Given the description of an element on the screen output the (x, y) to click on. 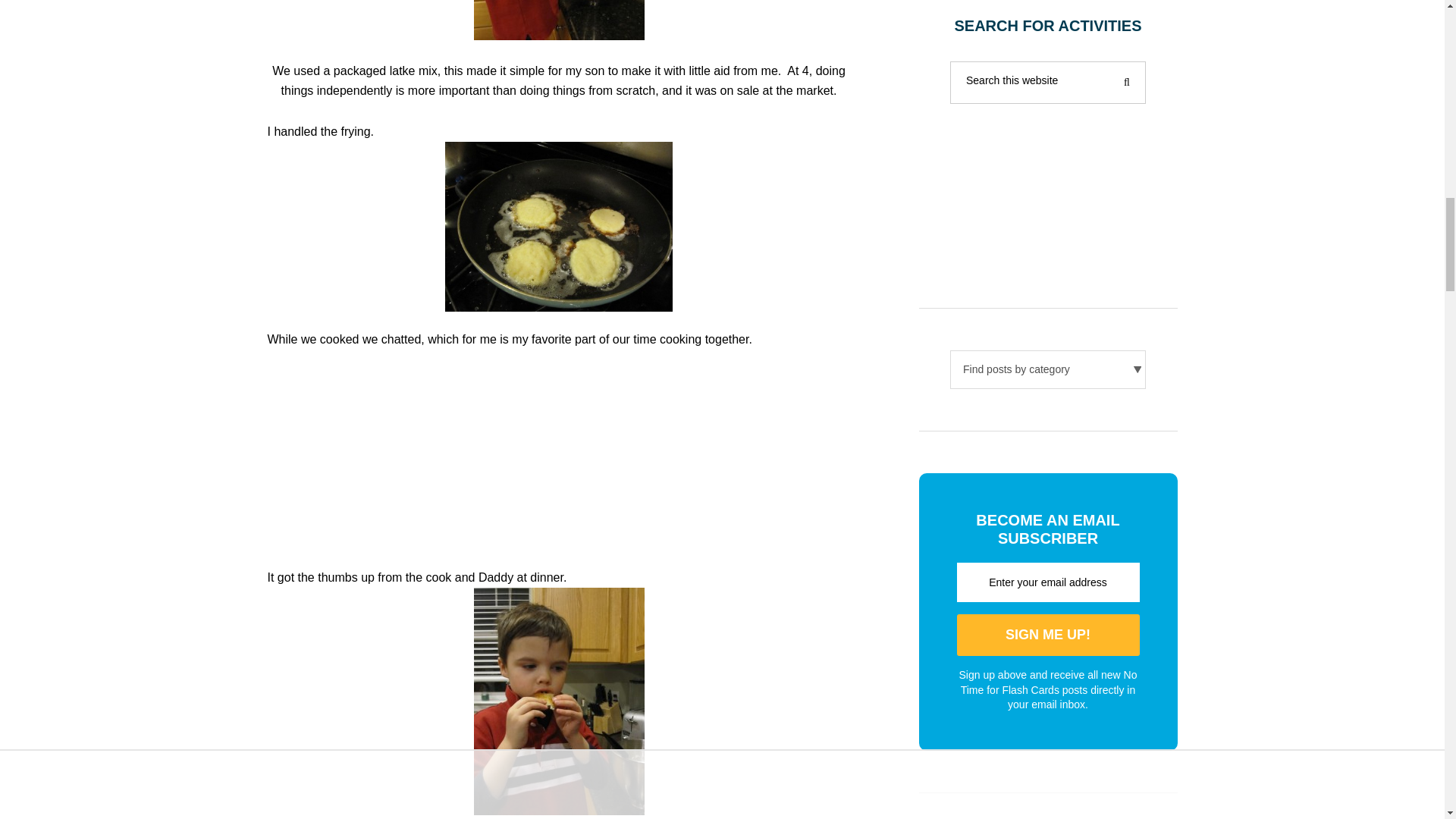
Cooking Latkes  (558, 20)
Sign Me Up! (1048, 635)
Latkes (558, 226)
